Given the description of an element on the screen output the (x, y) to click on. 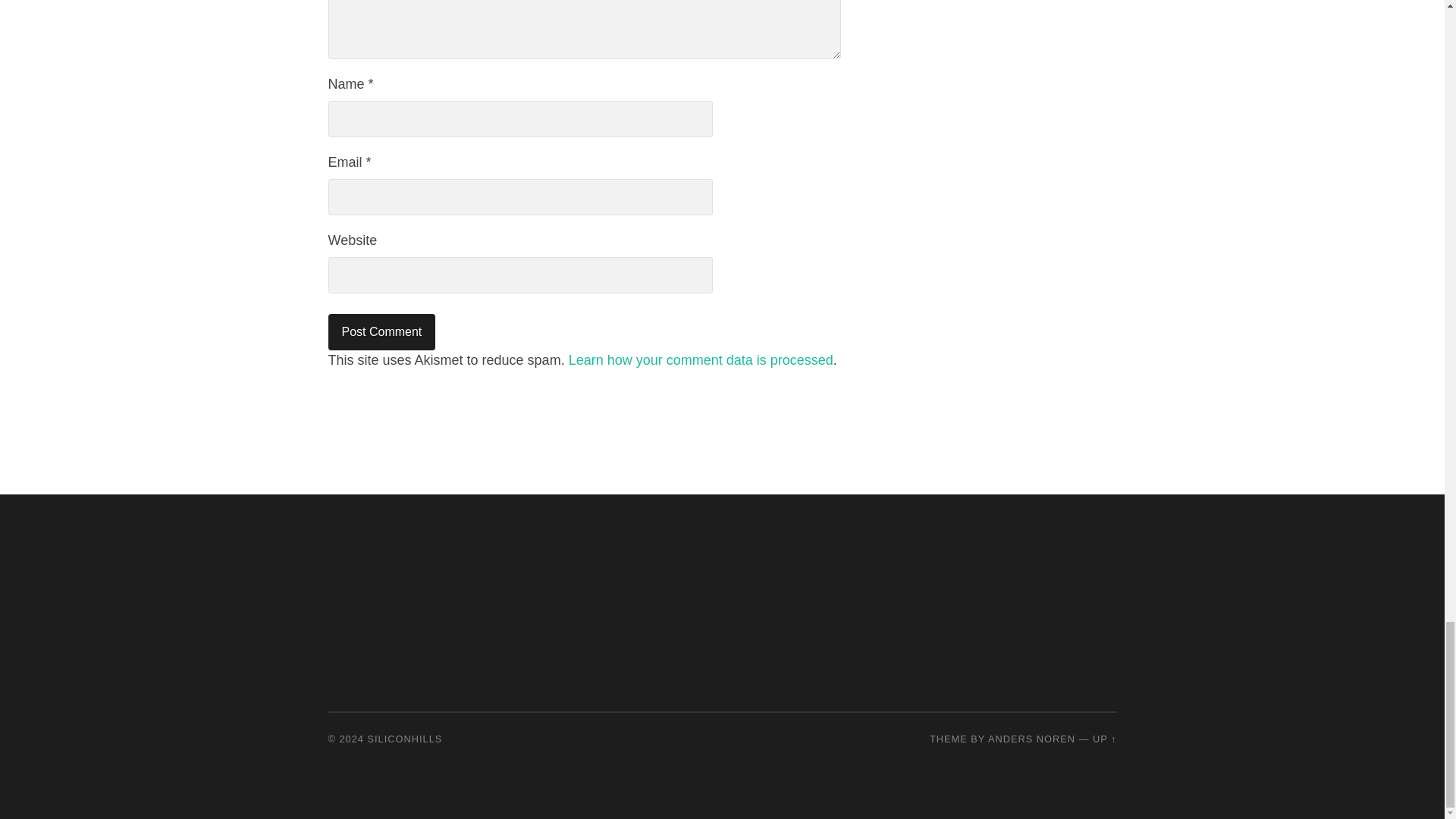
Post Comment (381, 331)
To the top (1104, 738)
